Given the description of an element on the screen output the (x, y) to click on. 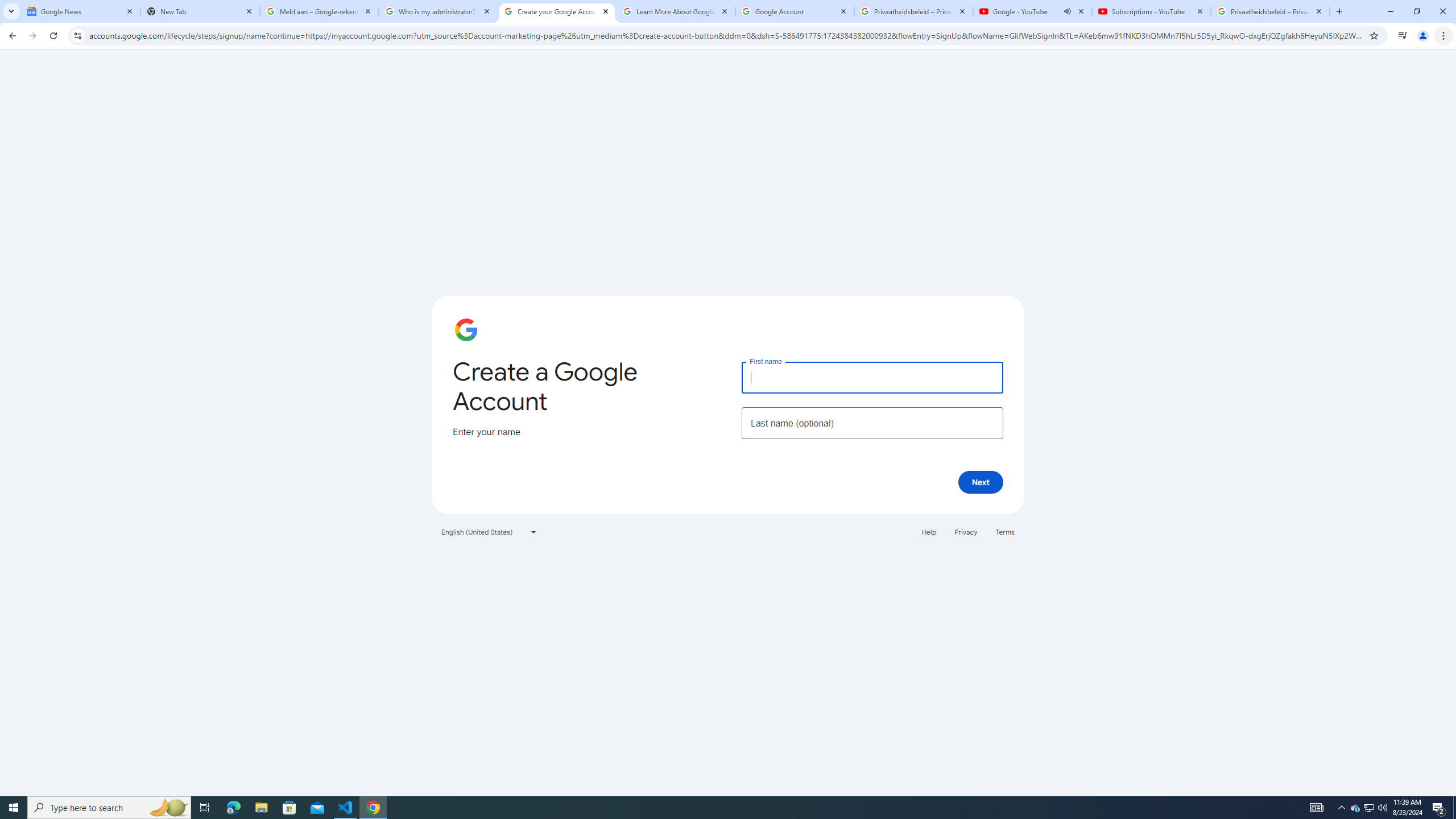
Terms (1005, 531)
Google - YouTube - Audio playing (1032, 11)
Next (980, 481)
Privacy (965, 531)
Last name (optional) (871, 422)
New Tab (199, 11)
